Given the description of an element on the screen output the (x, y) to click on. 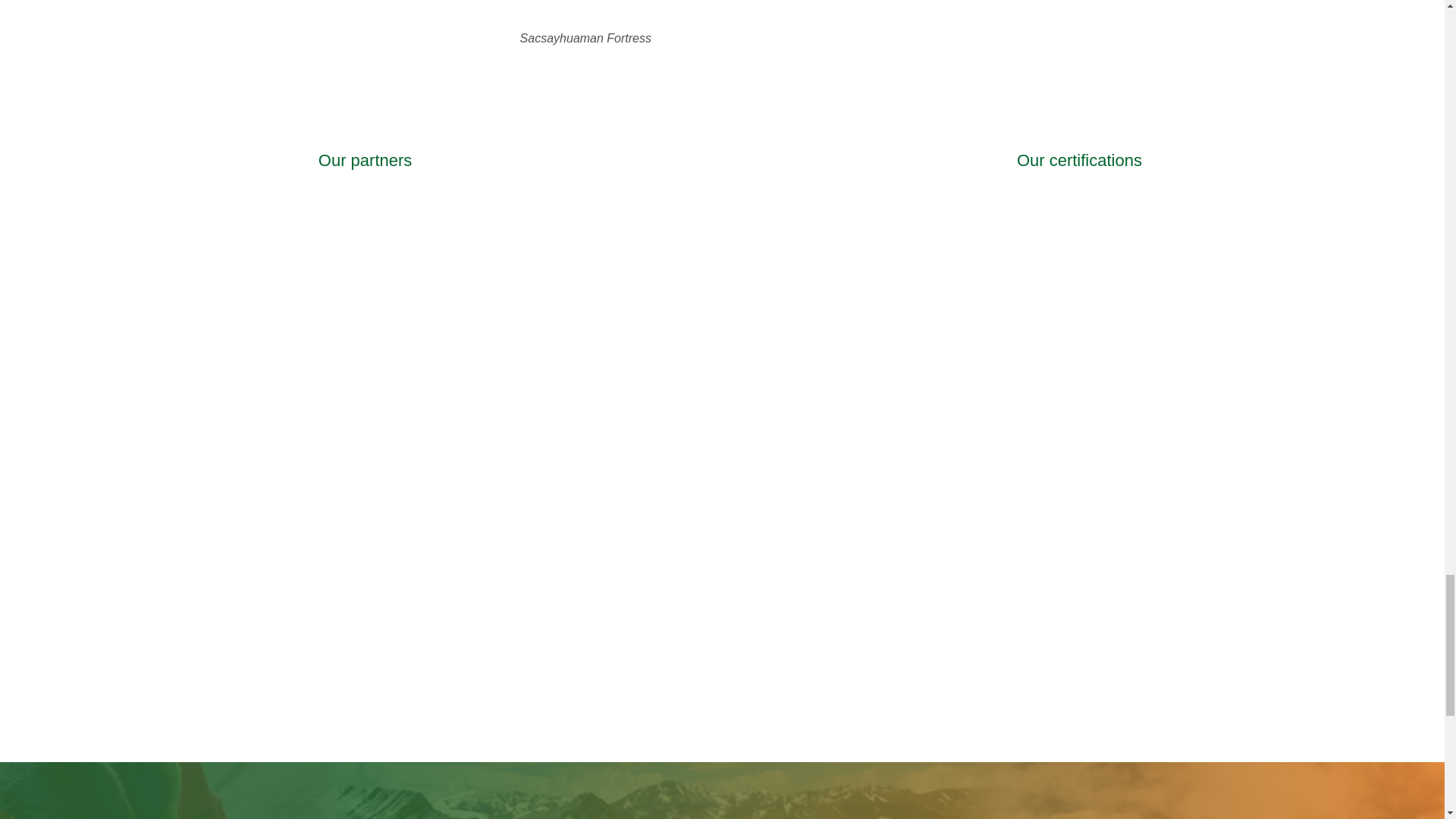
Sacsayhuaman, Illapa (740, 11)
Sacsayhuaman, Illapa (430, 11)
